Given the description of an element on the screen output the (x, y) to click on. 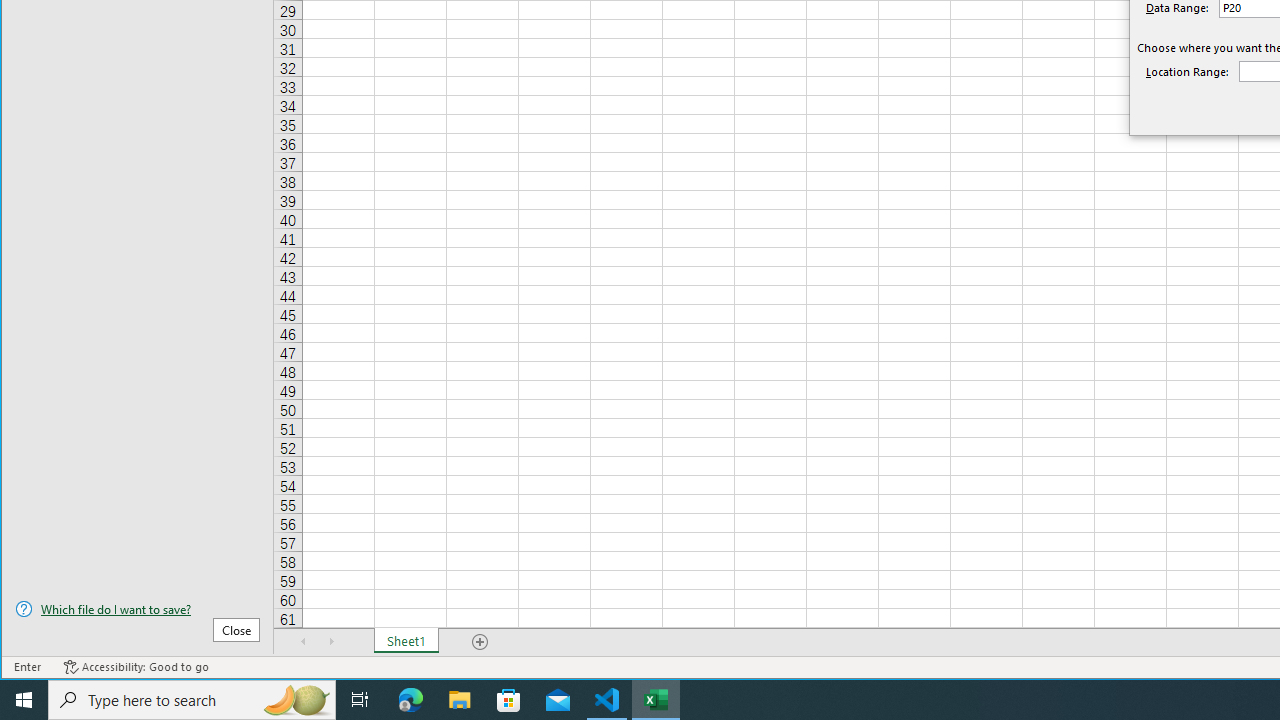
Accessibility Checker Accessibility: Good to go (136, 667)
Scroll Left (303, 641)
Which file do I want to save? (137, 609)
Add Sheet (481, 641)
Close (235, 629)
Sheet1 (406, 641)
Scroll Right (331, 641)
